Given the description of an element on the screen output the (x, y) to click on. 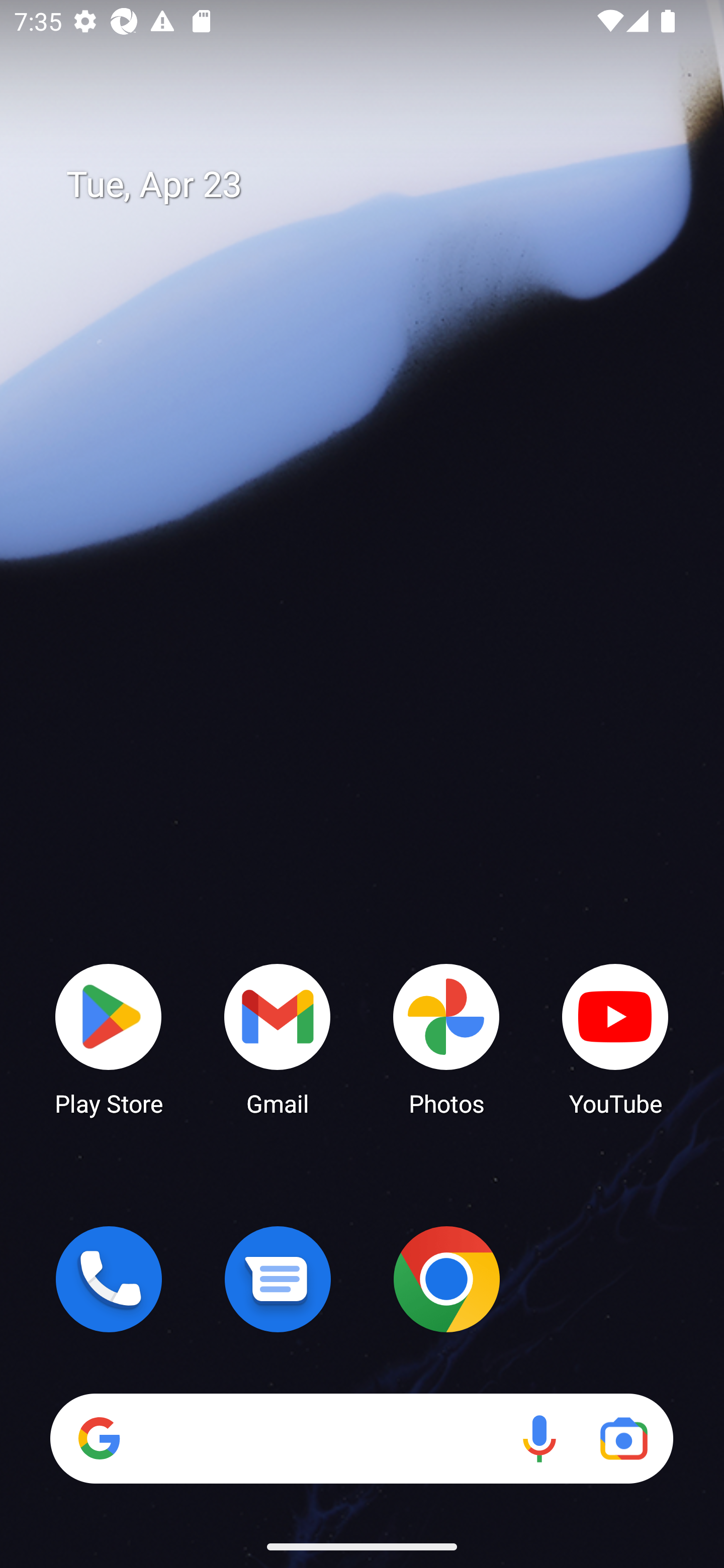
Tue, Apr 23 (375, 184)
Play Store (108, 1038)
Gmail (277, 1038)
Photos (445, 1038)
YouTube (615, 1038)
Phone (108, 1279)
Messages (277, 1279)
Chrome (446, 1279)
Search Voice search Google Lens (361, 1438)
Voice search (539, 1438)
Google Lens (623, 1438)
